Given the description of an element on the screen output the (x, y) to click on. 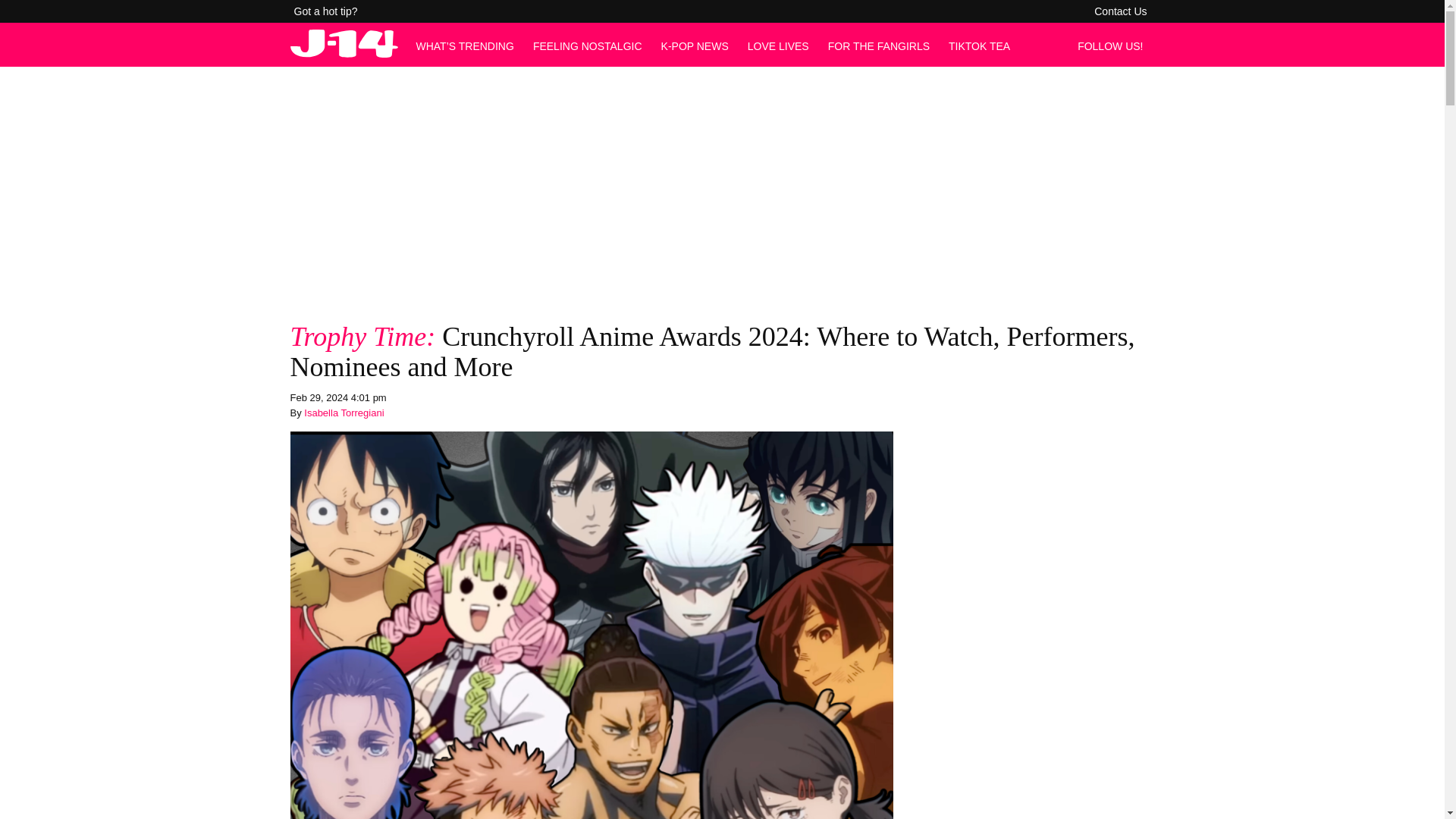
FOR THE FANGIRLS (879, 46)
Contact Us (1120, 11)
FEELING NOSTALGIC (587, 46)
TIKTOK TEA (979, 46)
LOVE LIVES (778, 46)
FOLLOW US! (1114, 45)
Home (343, 52)
Posts by Isabella Torregiani (344, 412)
K-POP NEWS (695, 46)
Isabella Torregiani (344, 412)
